Given the description of an element on the screen output the (x, y) to click on. 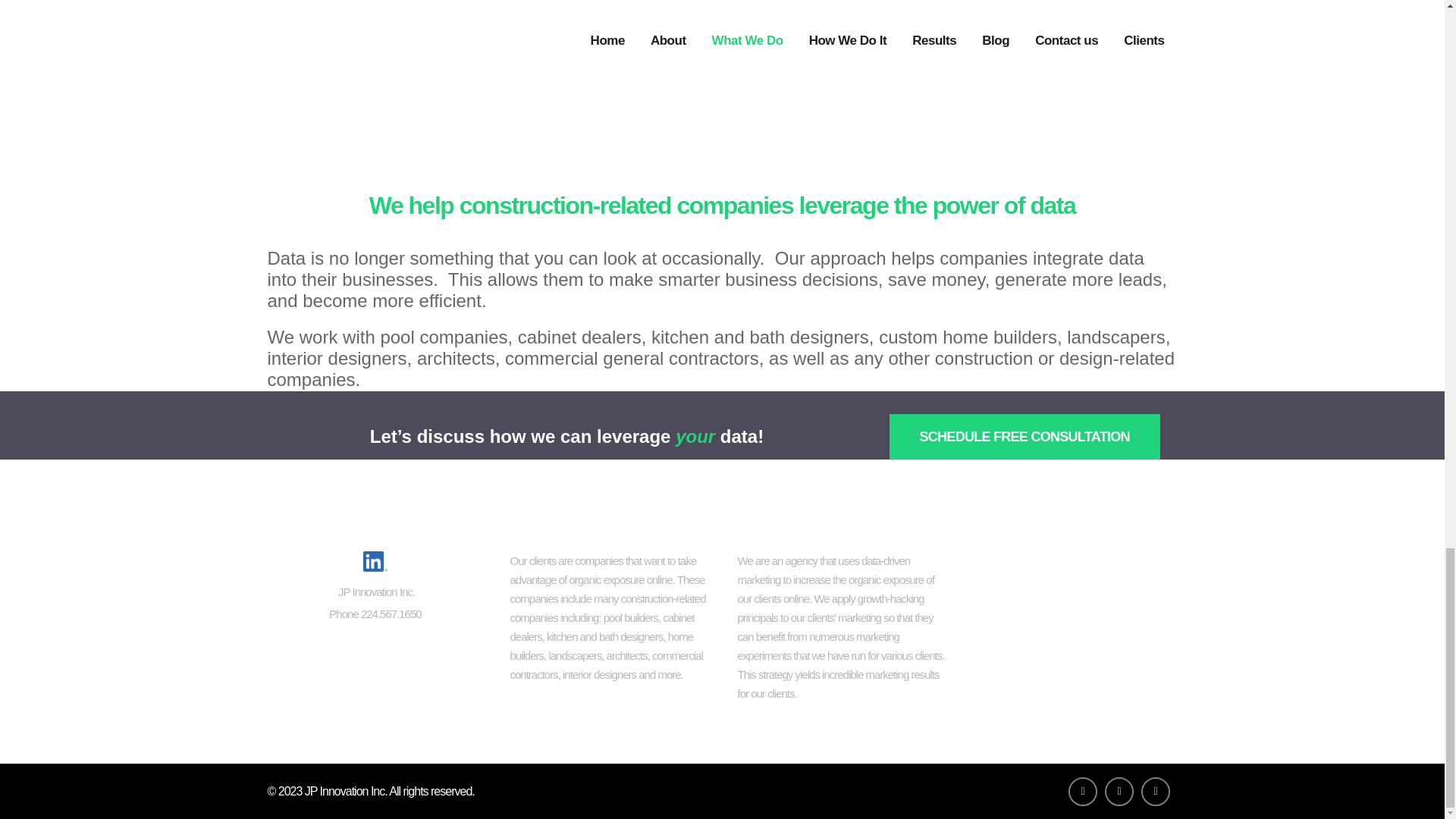
SCHEDULE FREE CONSULTATION (1023, 436)
Outrank Your Competitors (1069, 664)
SEO for Contractors (1069, 563)
